Given the description of an element on the screen output the (x, y) to click on. 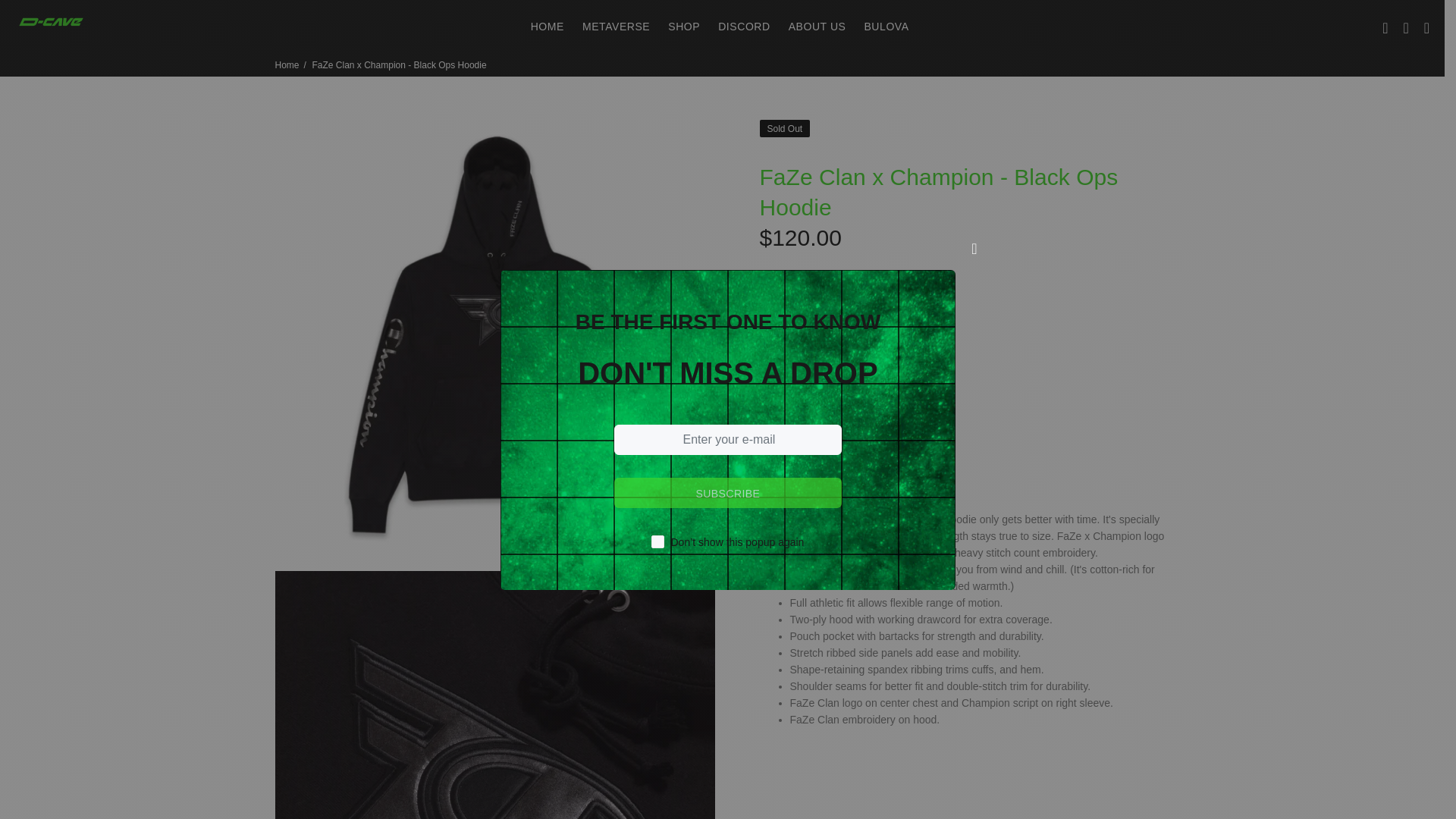
BULOVA (881, 26)
METAVERSE (616, 26)
ABOUT US (817, 26)
DISCORD (743, 26)
SHOP (684, 26)
HOME (547, 26)
